Given the description of an element on the screen output the (x, y) to click on. 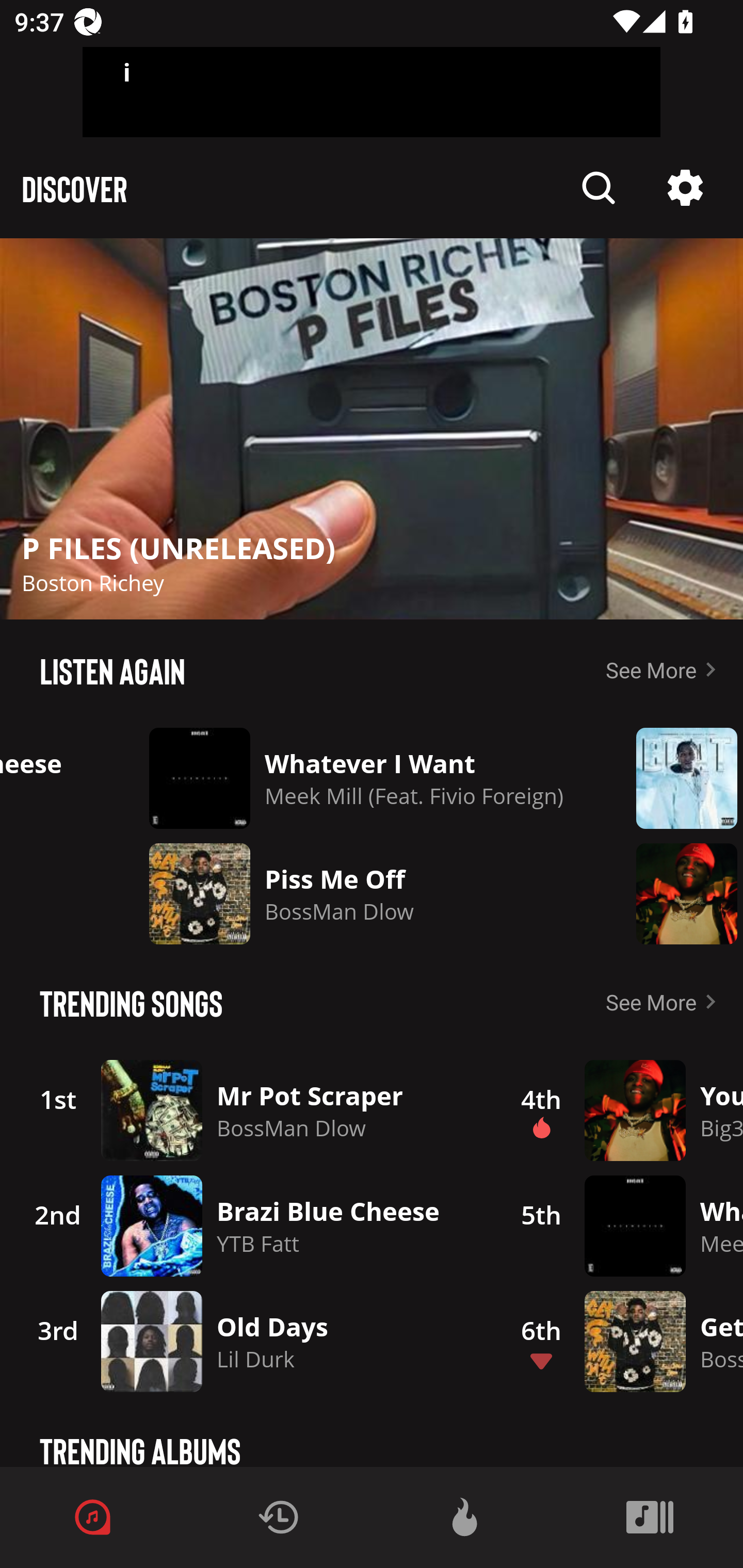
Description (598, 188)
Description (684, 188)
Description (371, 428)
See More (664, 669)
Description (675, 778)
Description Piss Me Off BossMan Dlow (356, 893)
Description (675, 893)
See More (664, 1001)
1st Description Mr Pot Scraper BossMan Dlow (248, 1110)
4th Description Description You Thought Big30 (620, 1110)
2nd Description Brazi Blue Cheese YTB Fatt (248, 1226)
3rd Description Old Days Lil Durk (248, 1341)
